Given the description of an element on the screen output the (x, y) to click on. 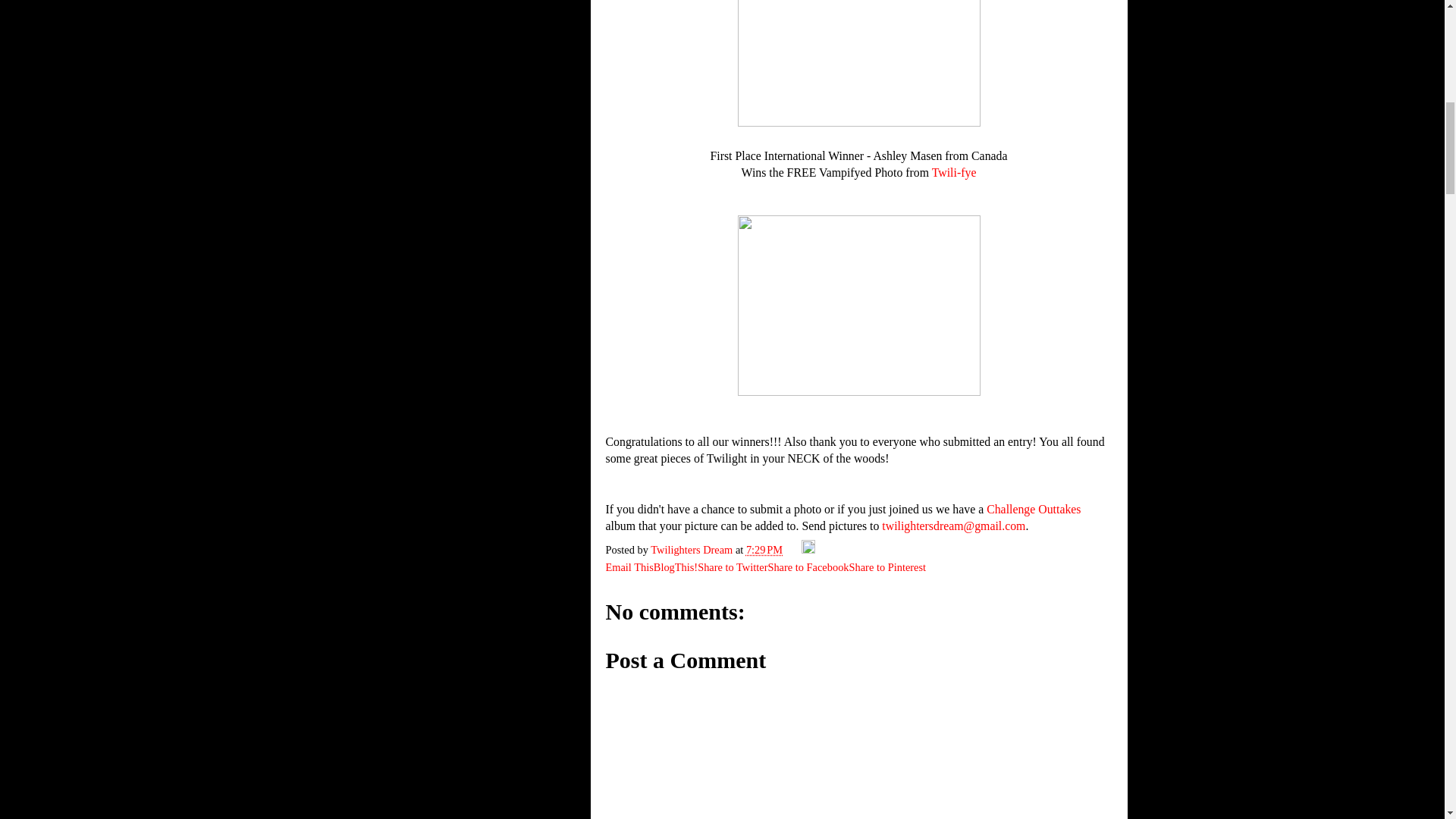
Share to Facebook (807, 567)
Twilighters Dream (692, 549)
Twili-fye (953, 172)
BlogThis! (675, 567)
author profile (692, 549)
Share to Pinterest (887, 567)
Email Post (794, 549)
Email This (628, 567)
Edit Post (808, 549)
Challenge Outtakes (1033, 508)
Share to Twitter (732, 567)
Share to Pinterest (887, 567)
BlogThis! (675, 567)
permanent link (764, 549)
